Given the description of an element on the screen output the (x, y) to click on. 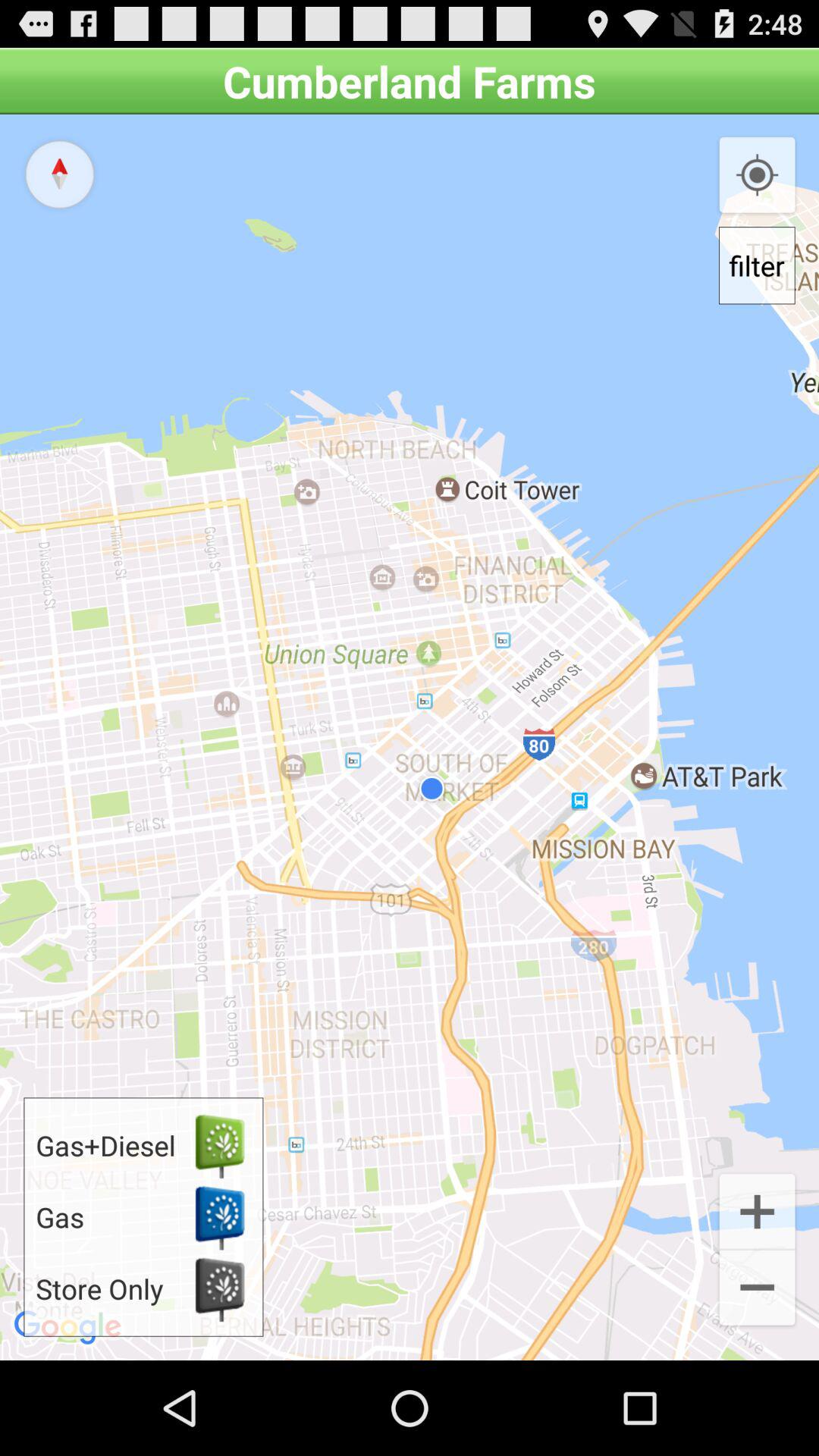
launch the item above filter (757, 175)
